Given the description of an element on the screen output the (x, y) to click on. 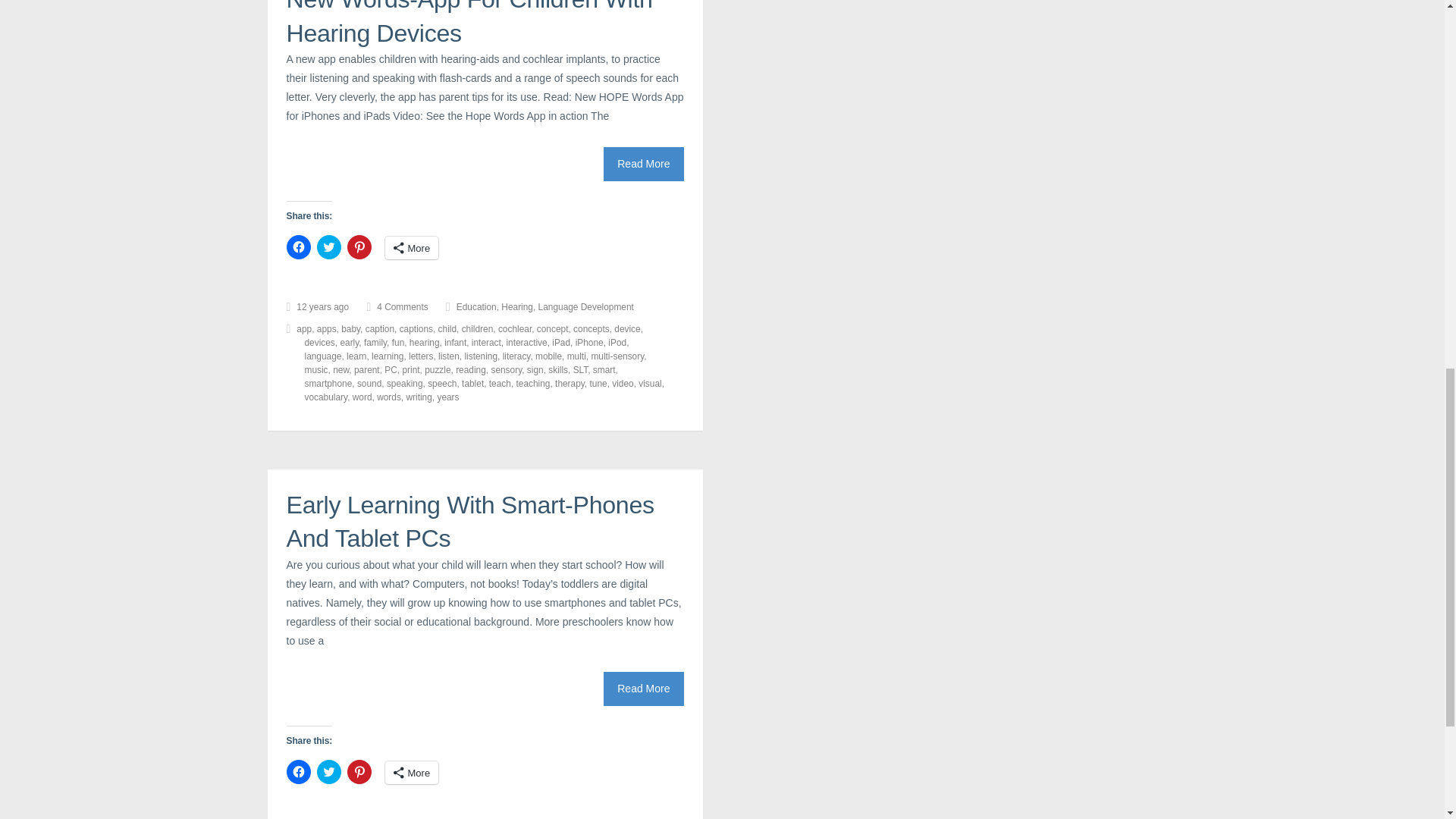
Click to share on Facebook (298, 247)
